Given the description of an element on the screen output the (x, y) to click on. 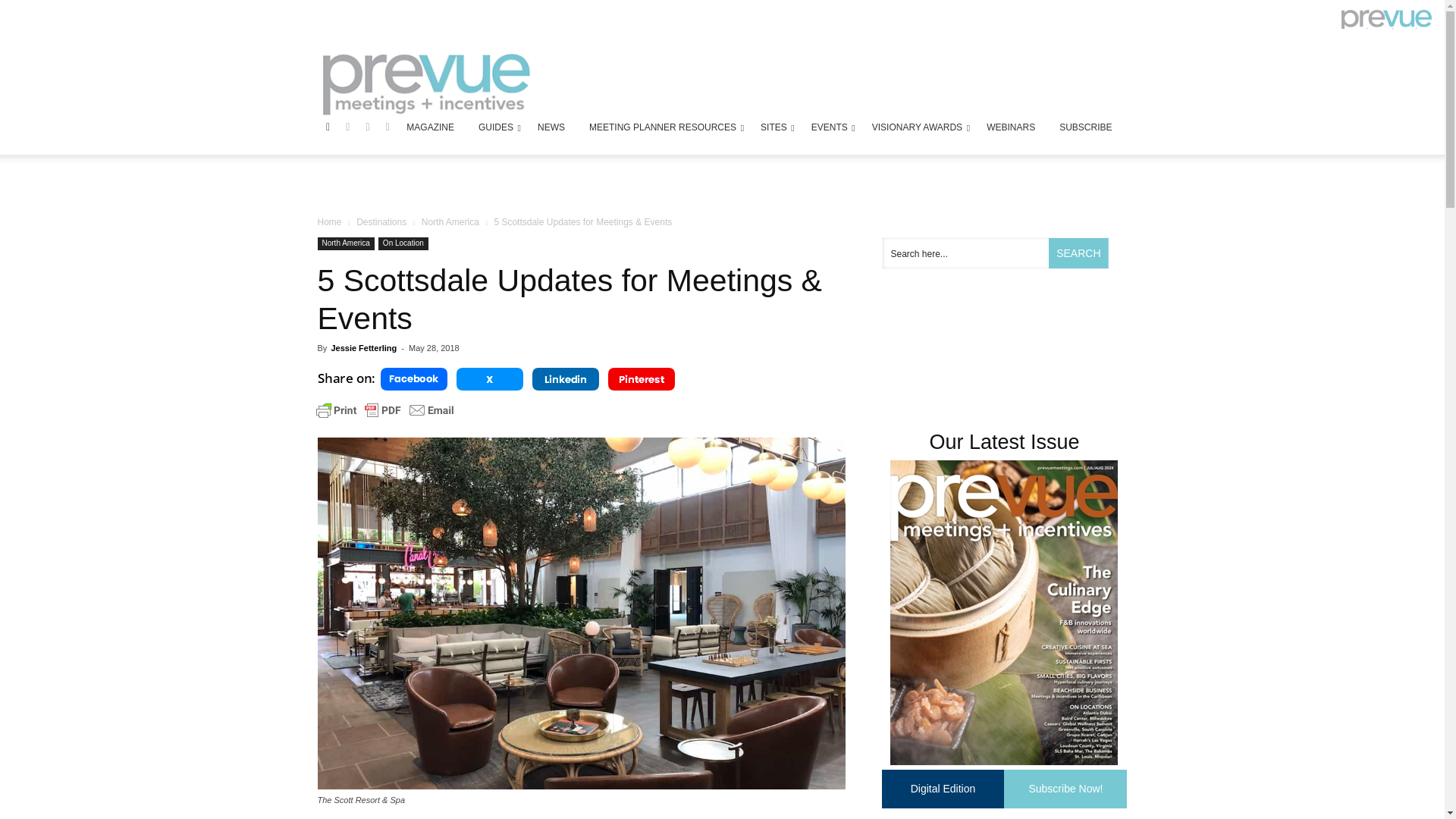
View all posts in North America (450, 222)
View all posts in Destinations (381, 222)
